Given the description of an element on the screen output the (x, y) to click on. 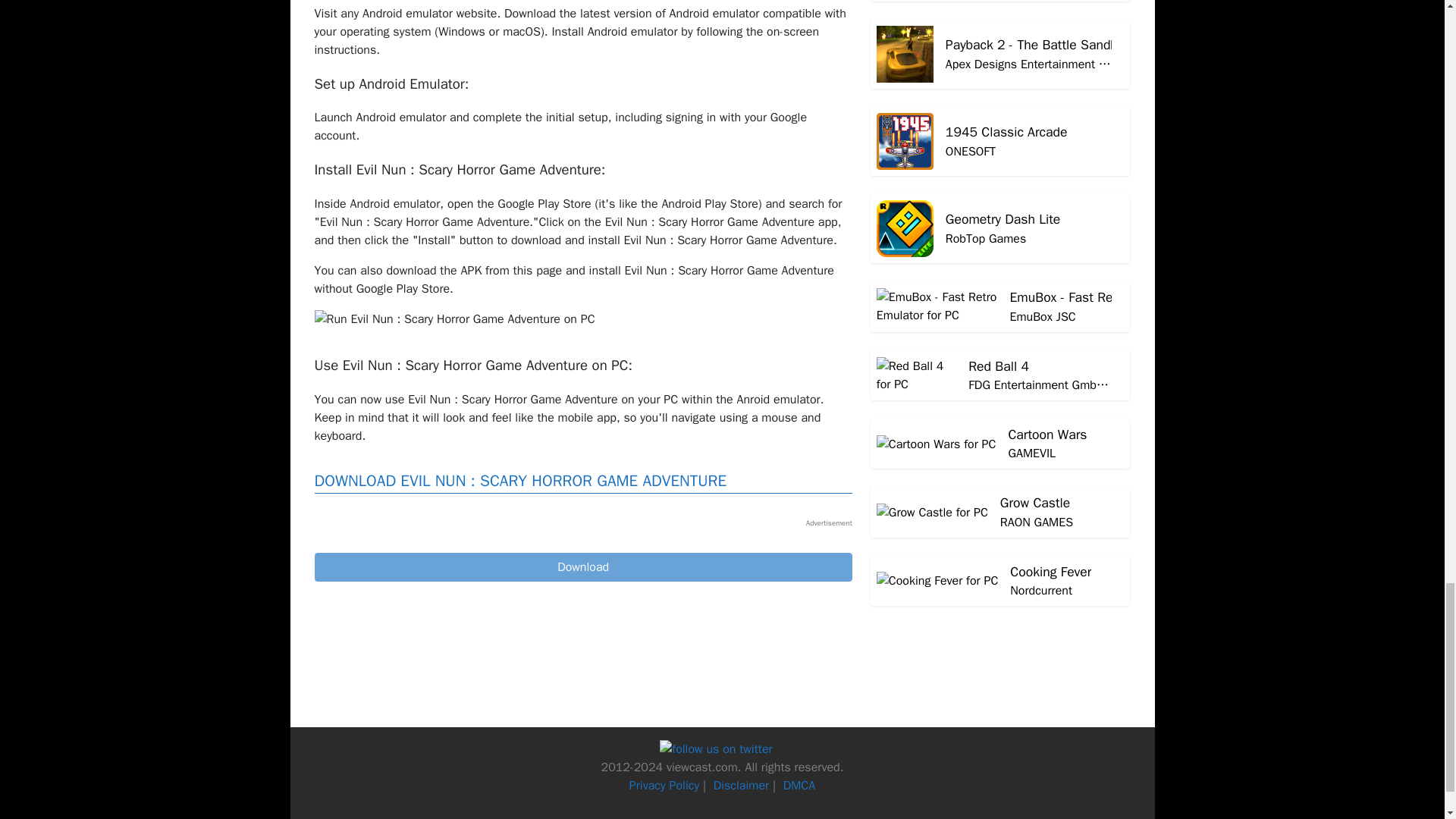
Run Evil Nun : Scary Horror Game Adventure on PC (454, 319)
Download (582, 566)
Evil Nun : Scary Horror Game Adventure (582, 566)
